Given the description of an element on the screen output the (x, y) to click on. 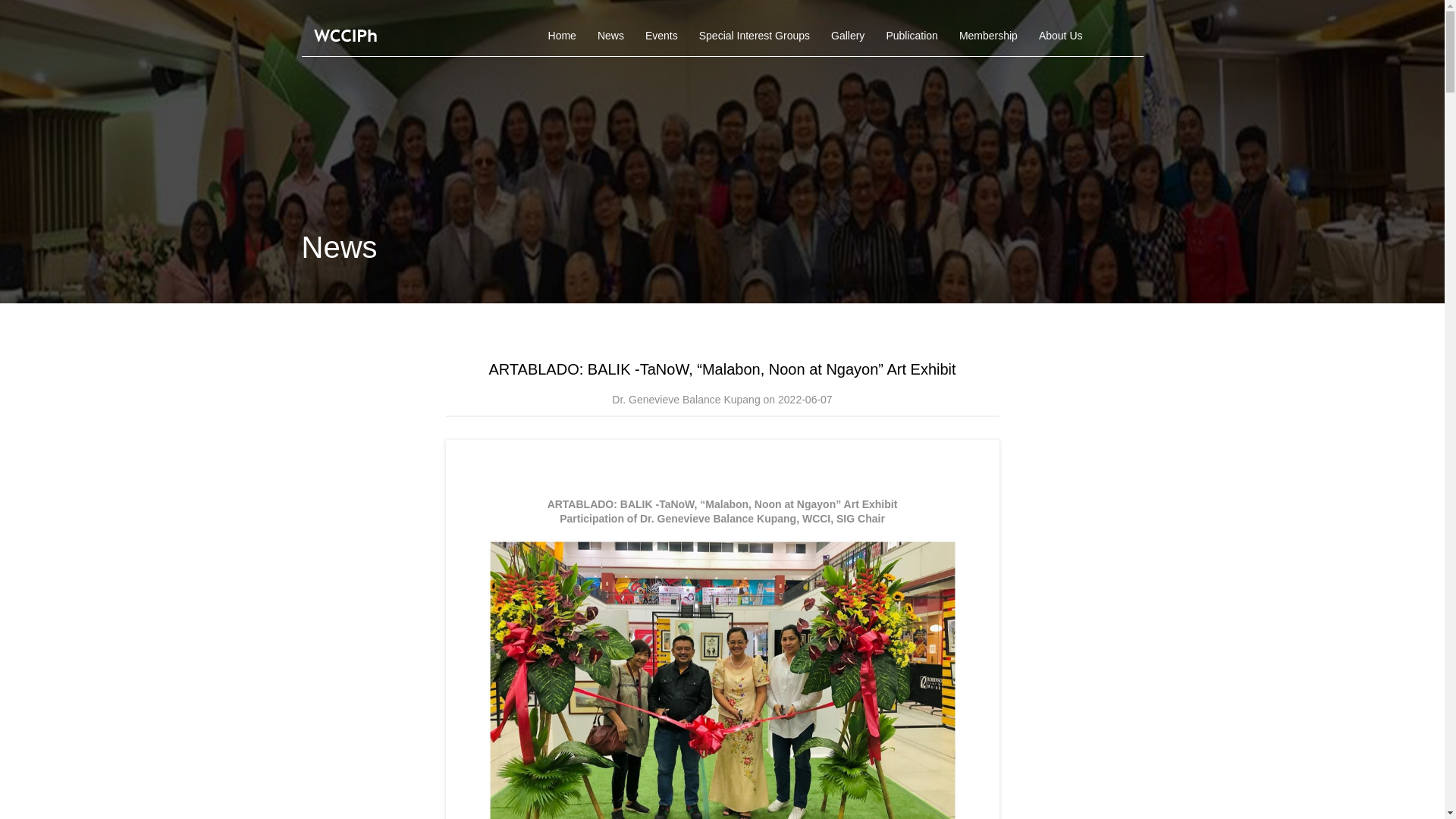
Home (561, 35)
Dr. Genevieve Balance Kupang (685, 399)
About Us (1060, 35)
Publication (912, 35)
Events (661, 35)
Membership (988, 35)
2022-06-07 (804, 399)
Special Interest Groups (754, 35)
News (610, 35)
Gallery (848, 35)
